Given the description of an element on the screen output the (x, y) to click on. 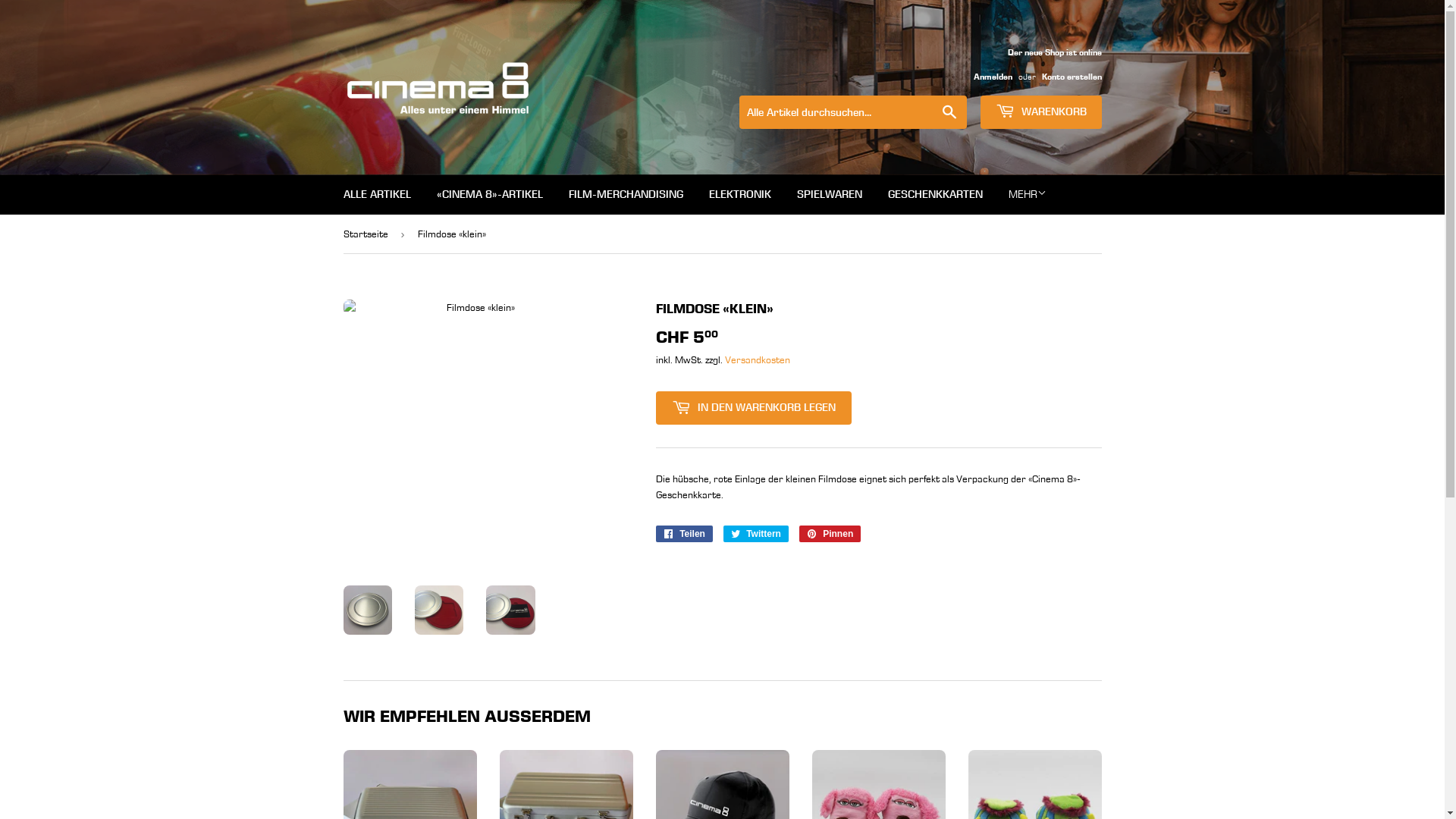
ELEKTRONIK Element type: text (739, 193)
Pinnen
Auf Pinterest pinnen Element type: text (830, 533)
Startseite Element type: text (367, 233)
Anmelden Element type: text (992, 76)
SPIELWAREN Element type: text (829, 193)
Der neue Shop ist online Element type: text (1031, 63)
Twittern
Auf Twitter twittern Element type: text (755, 533)
IN DEN WARENKORB LEGEN Element type: text (752, 407)
ALLE ARTIKEL Element type: text (377, 193)
MEHR Element type: text (1026, 193)
FILM-MERCHANDISING Element type: text (624, 193)
WARENKORB Element type: text (1040, 111)
Konto erstellen Element type: text (1071, 76)
Versandkosten Element type: text (757, 359)
Teilen
Auf Facebook teilen Element type: text (683, 533)
Suchen Element type: text (949, 112)
GESCHENKKARTEN Element type: text (935, 193)
